Given the description of an element on the screen output the (x, y) to click on. 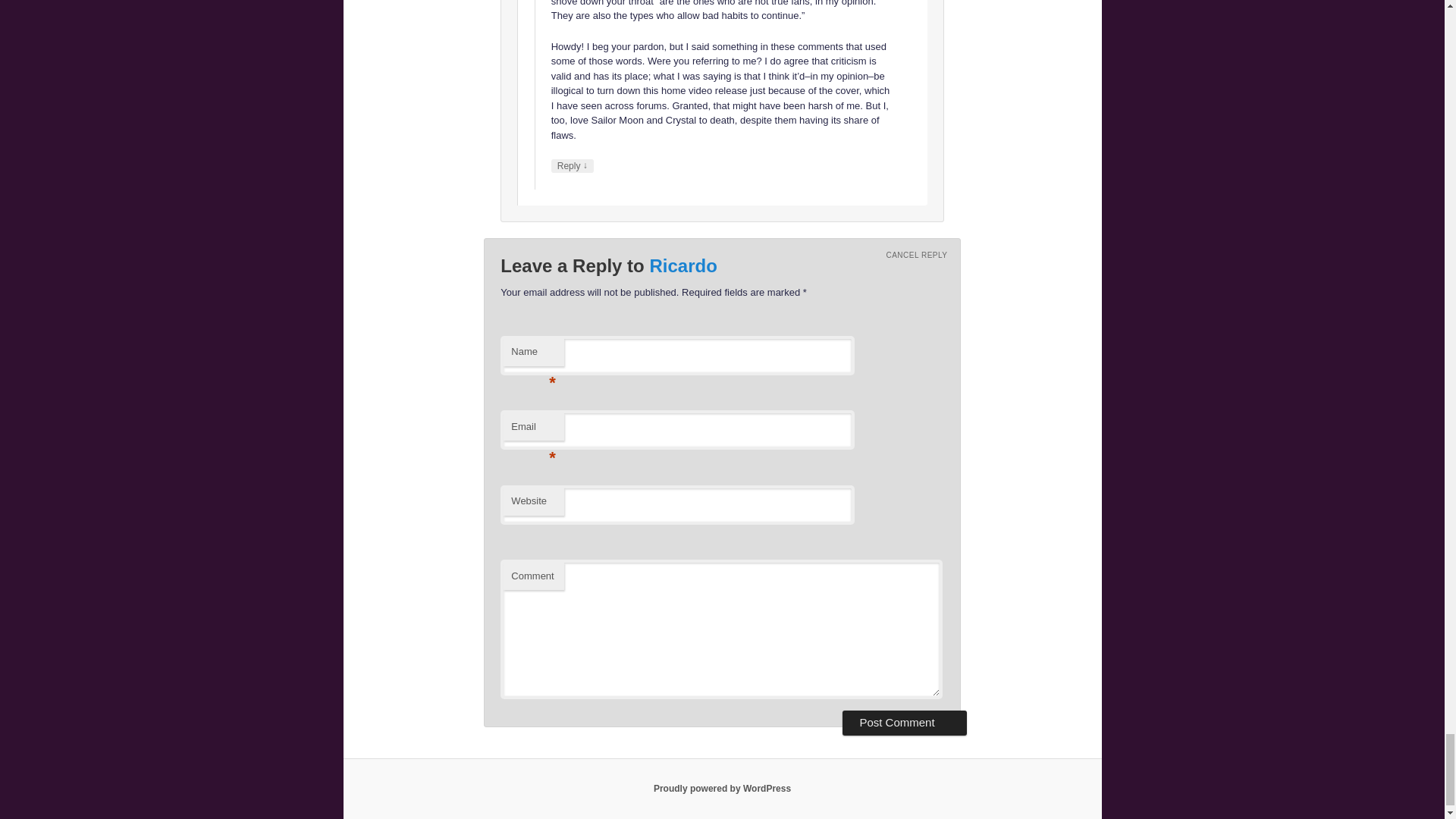
Post Comment (904, 722)
